Given the description of an element on the screen output the (x, y) to click on. 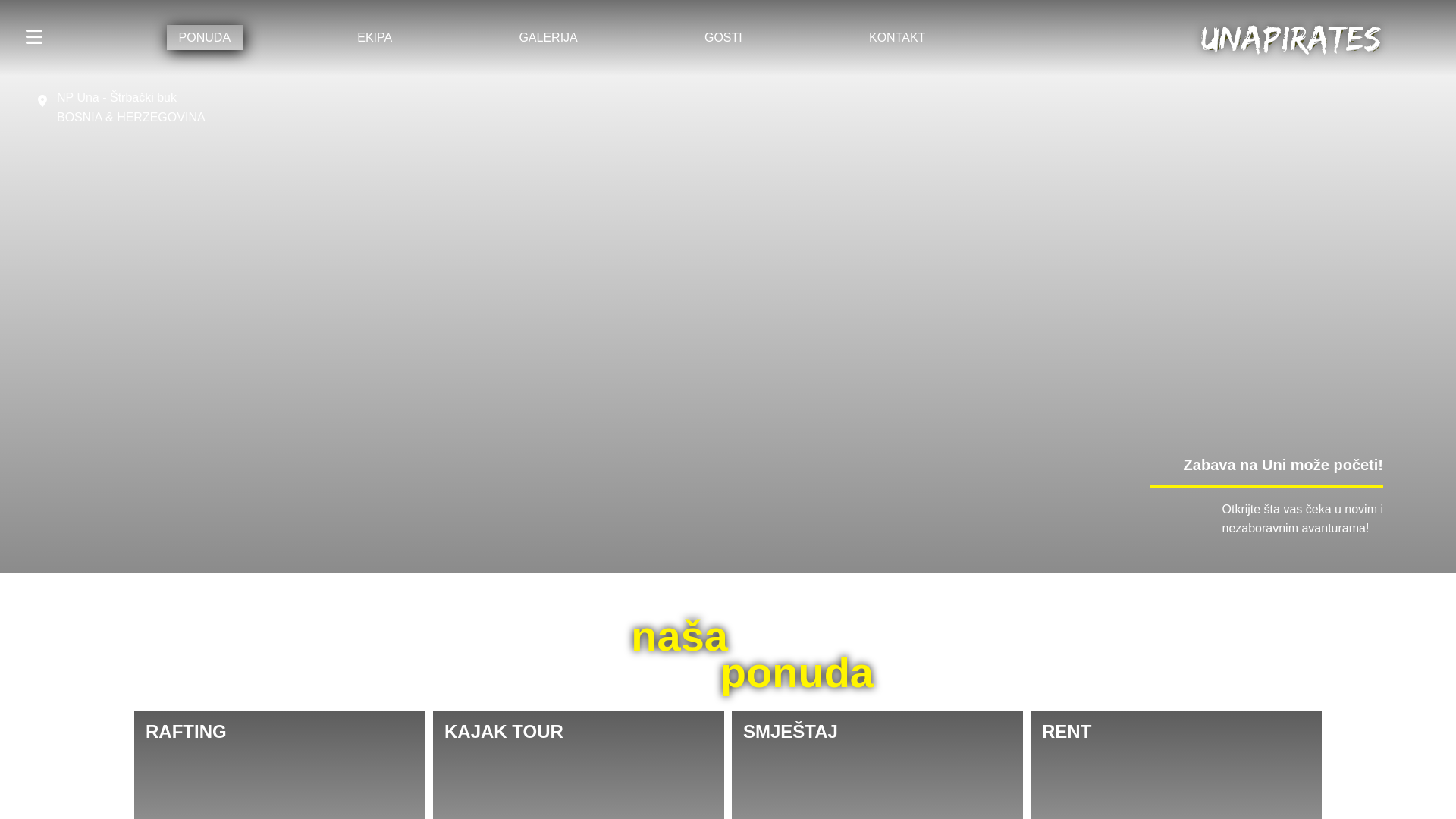
KONTAKT Element type: text (896, 37)
GALERIJA Element type: text (547, 37)
EKIPA Element type: text (374, 37)
GOSTI Element type: text (723, 37)
PONUDA Element type: text (204, 37)
